Given the description of an element on the screen output the (x, y) to click on. 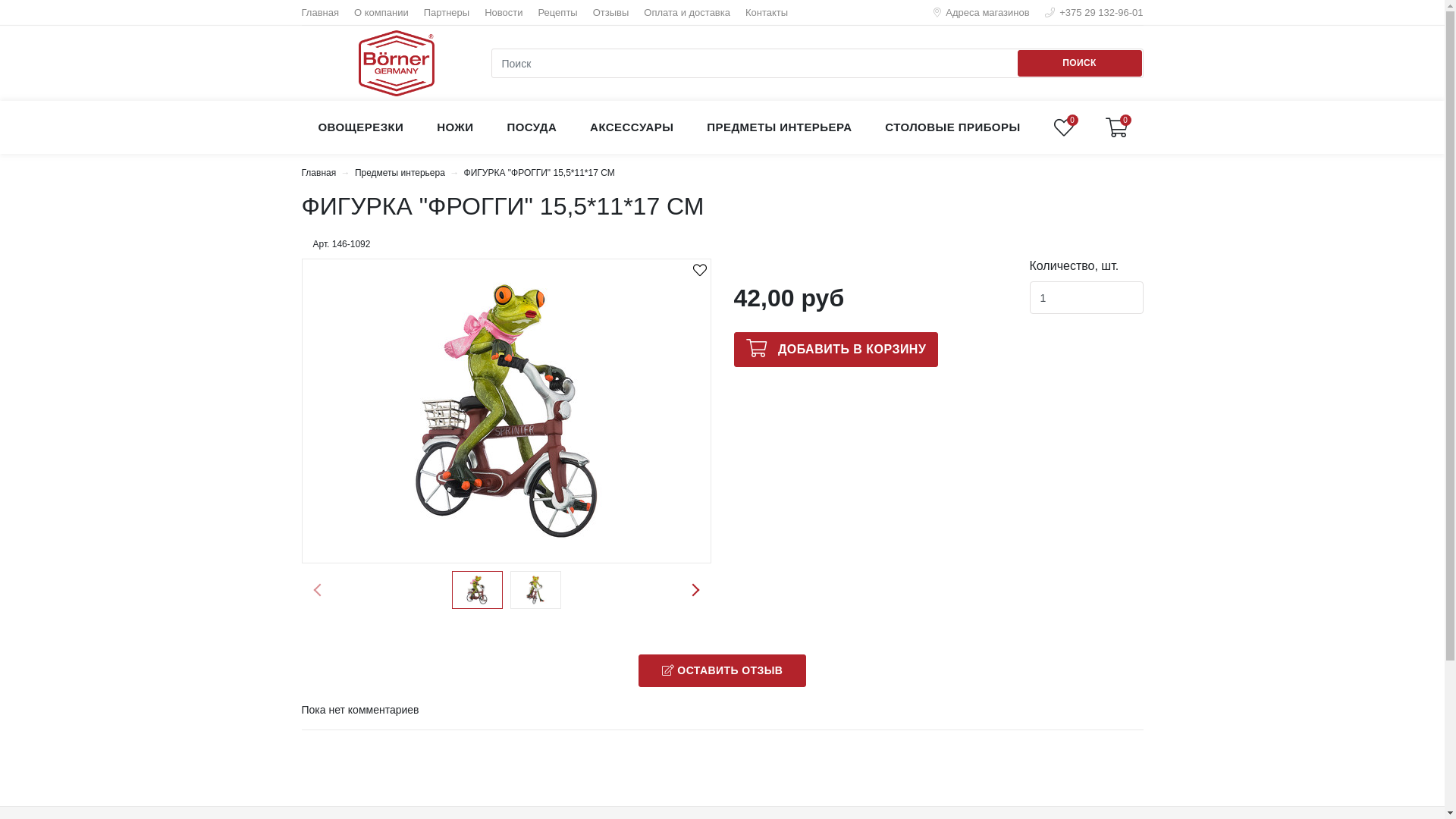
+375 29 132-96-01 Element type: text (1093, 12)
Next Element type: text (694, 589)
Previous Element type: text (316, 589)
0 Element type: text (1063, 126)
0 Element type: text (1116, 126)
